Given the description of an element on the screen output the (x, y) to click on. 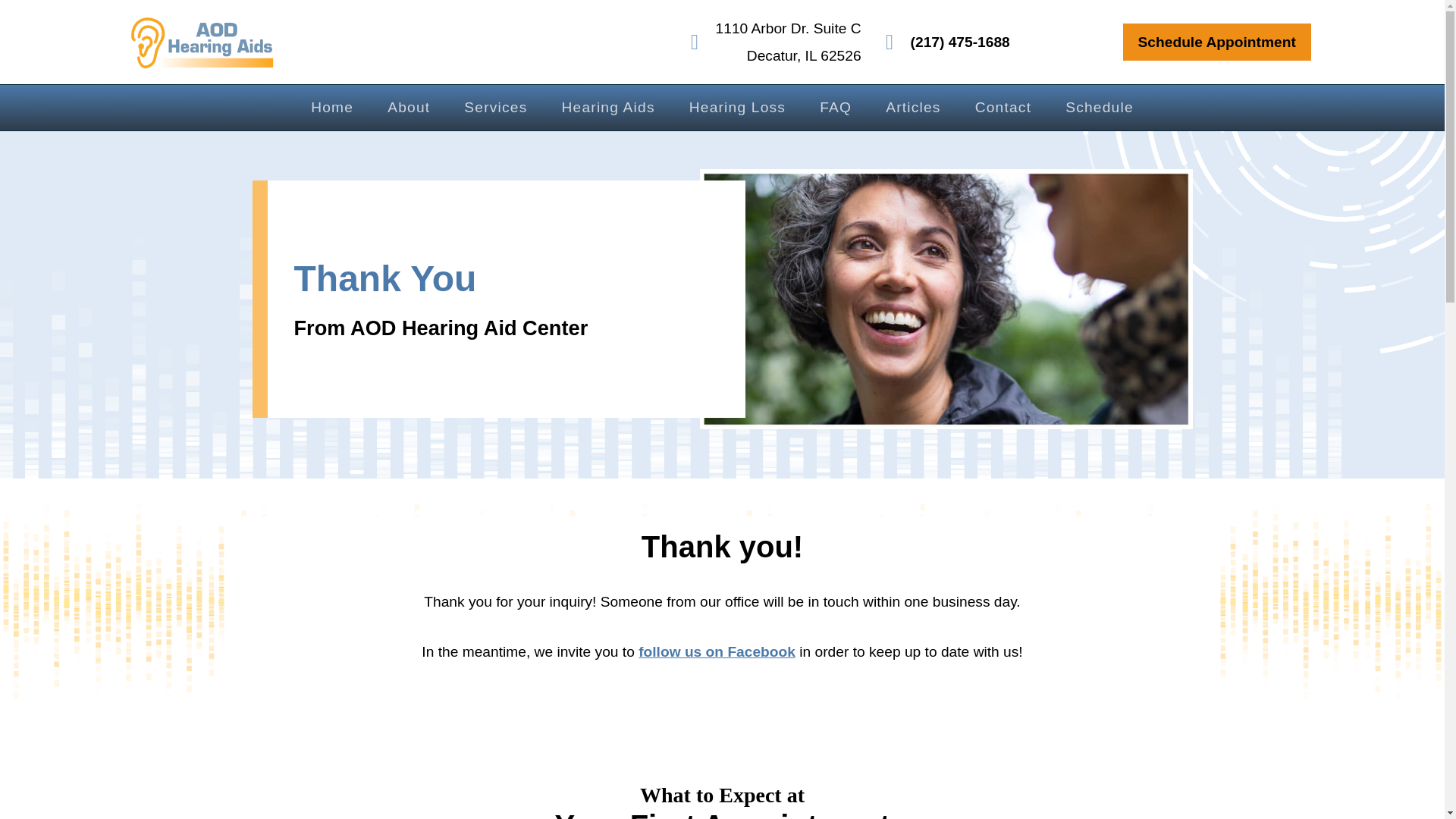
Hearing Aids (608, 107)
FAQ (835, 107)
Contact (1003, 107)
Articles (913, 107)
Home (332, 107)
Schedule Appointment (1217, 42)
About (408, 107)
follow us on Facebook (716, 651)
Hearing Loss (737, 107)
Schedule (771, 41)
Services (1099, 107)
